Given the description of an element on the screen output the (x, y) to click on. 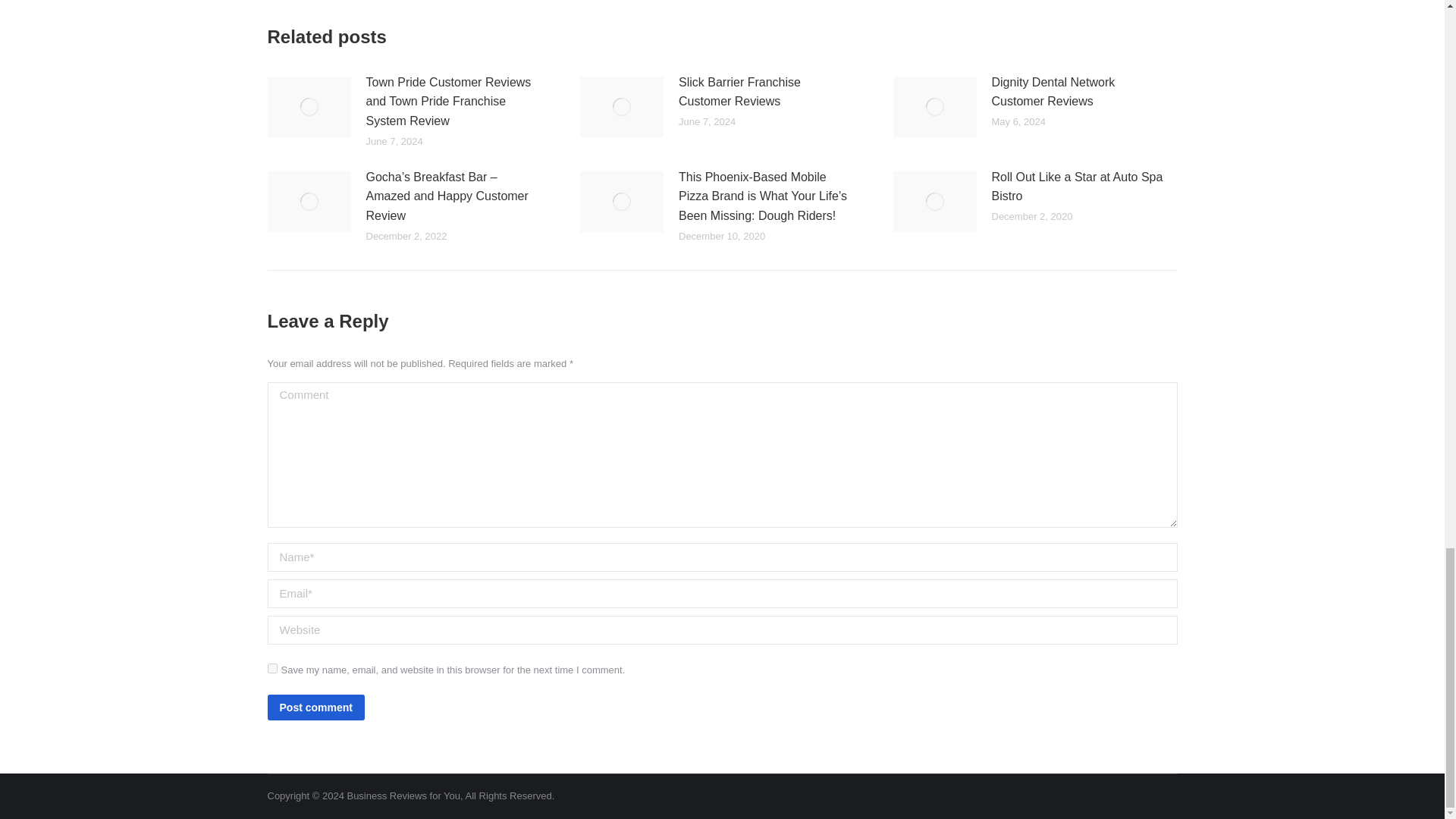
yes (271, 668)
Post comment (315, 707)
Roll Out Like a Star at Auto Spa Bistro (1080, 186)
Slick Barrier Franchise Customer Reviews (767, 91)
Dignity Dental Network Customer Reviews (1080, 91)
